Given the description of an element on the screen output the (x, y) to click on. 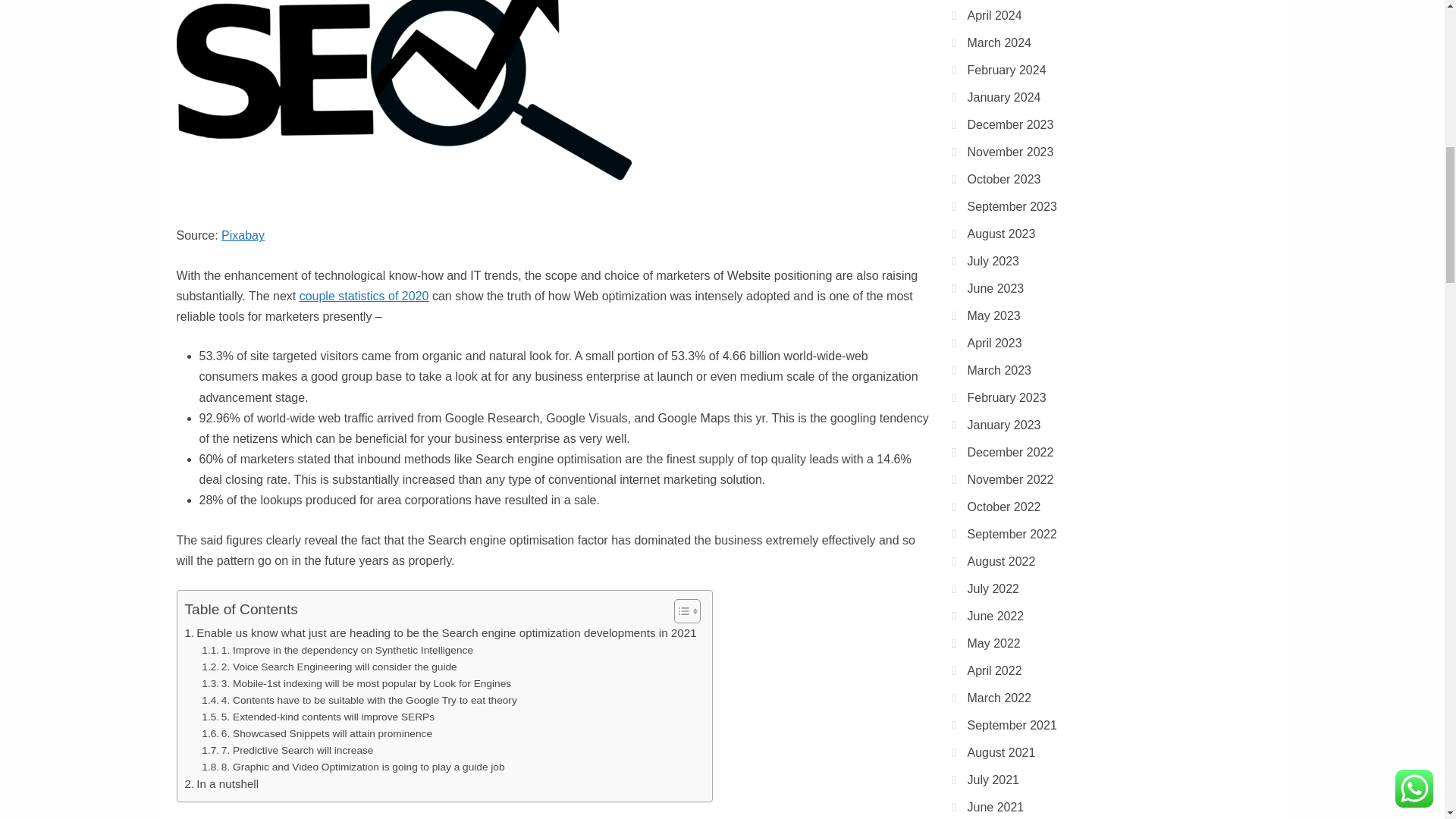
In a nutshell (221, 783)
6. Showcased Snippets will attain prominence (317, 733)
5. Extended-kind contents will improve SERPs (317, 717)
5. Extended-kind contents will improve SERPs (317, 717)
couple statistics of 2020 (364, 295)
2. Voice Search Engineering will consider the guide (329, 667)
In a nutshell (221, 783)
Pixabay (242, 235)
1. Improve in the dependency on Synthetic Intelligence (337, 650)
7. Predictive Search will increase (287, 750)
2. Voice Search Engineering will consider the guide (329, 667)
6. Showcased Snippets will attain prominence (317, 733)
